Given the description of an element on the screen output the (x, y) to click on. 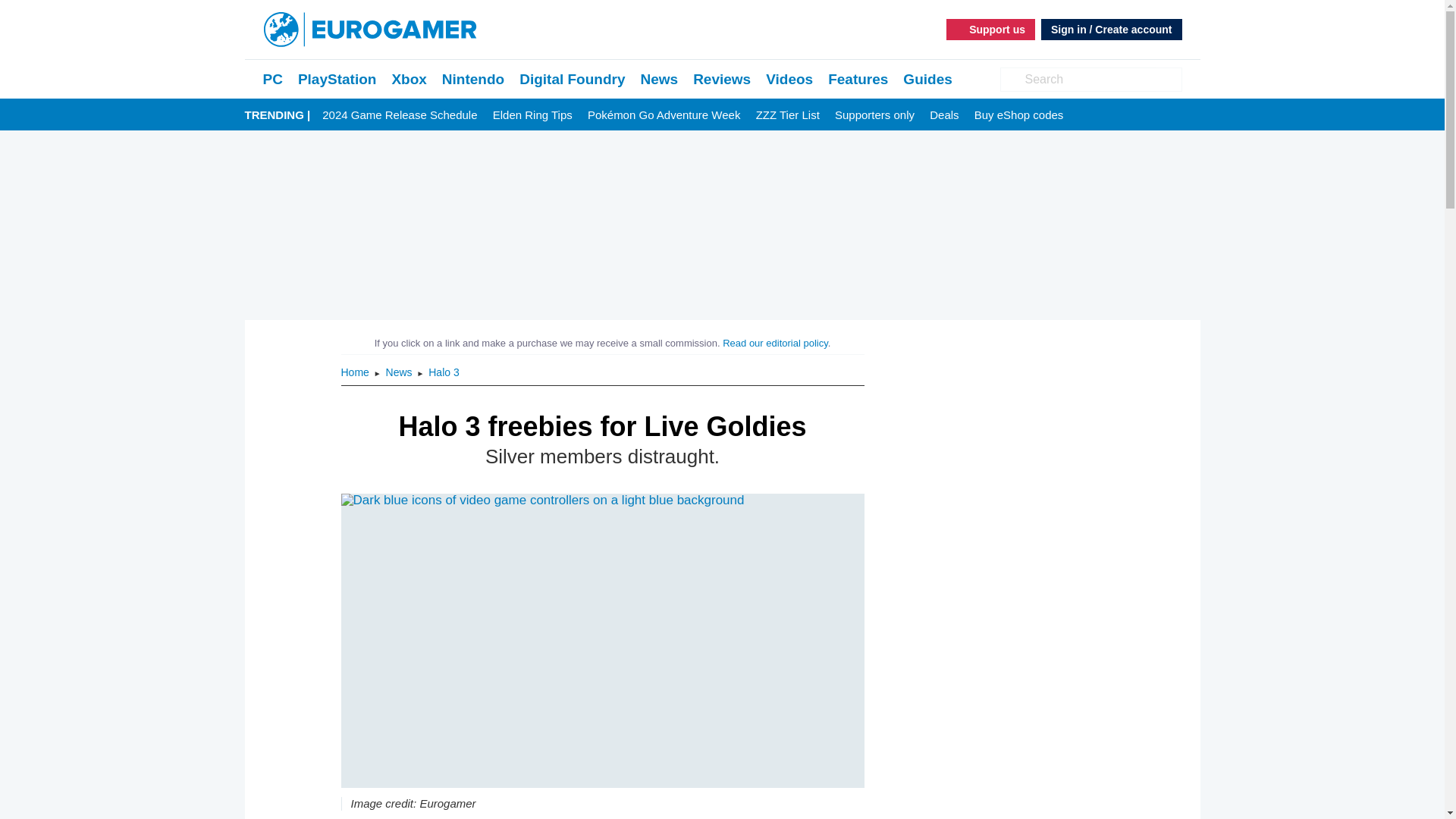
Halo 3 (443, 372)
Digital Foundry (571, 78)
Videos (788, 78)
Supporters only (874, 114)
Elden Ring Tips (532, 114)
Nintendo (472, 78)
News (399, 372)
Supporters only (874, 114)
Digital Foundry (571, 78)
Videos (788, 78)
